Given the description of an element on the screen output the (x, y) to click on. 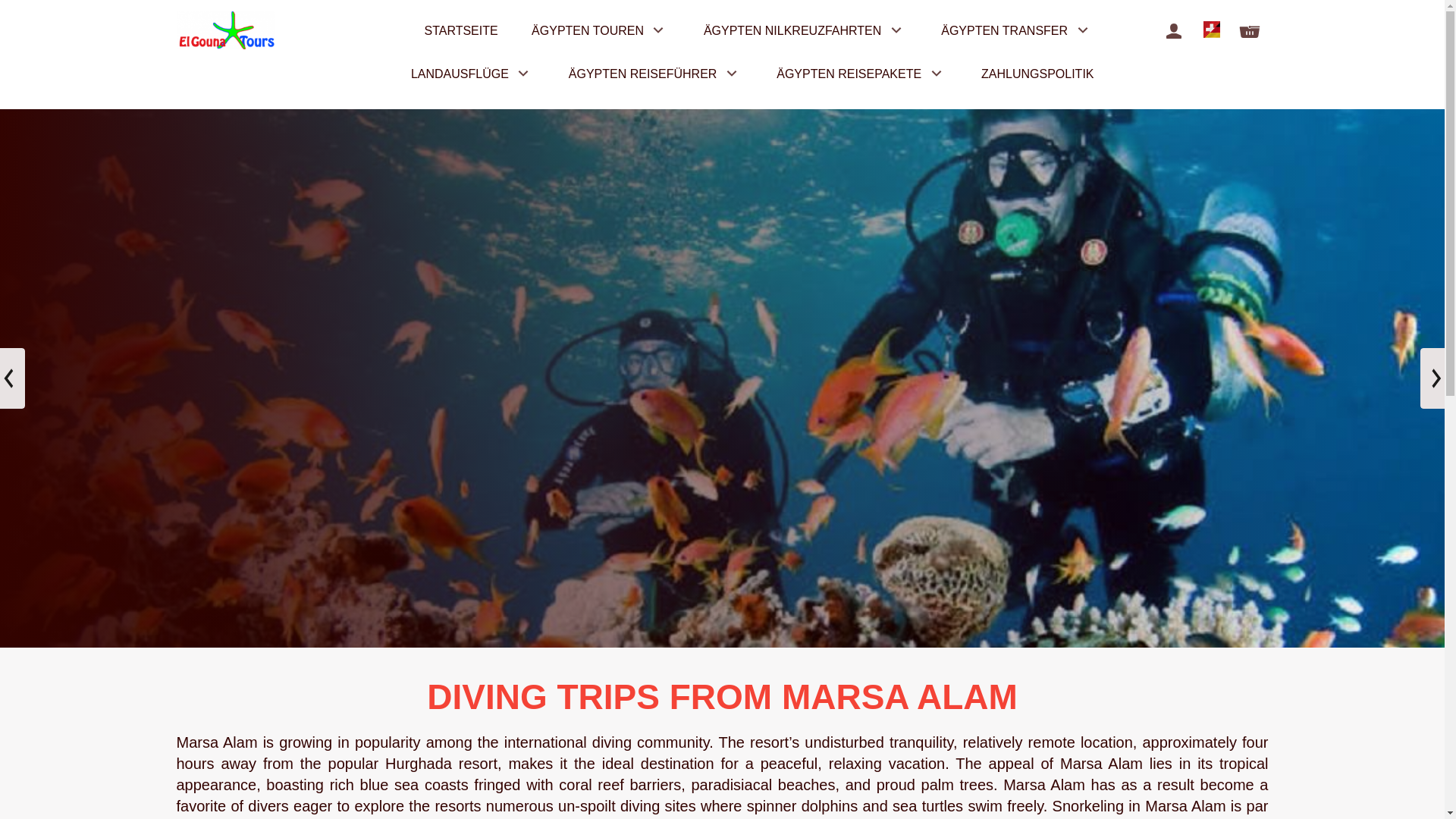
STARTSEITE (460, 32)
